Given the description of an element on the screen output the (x, y) to click on. 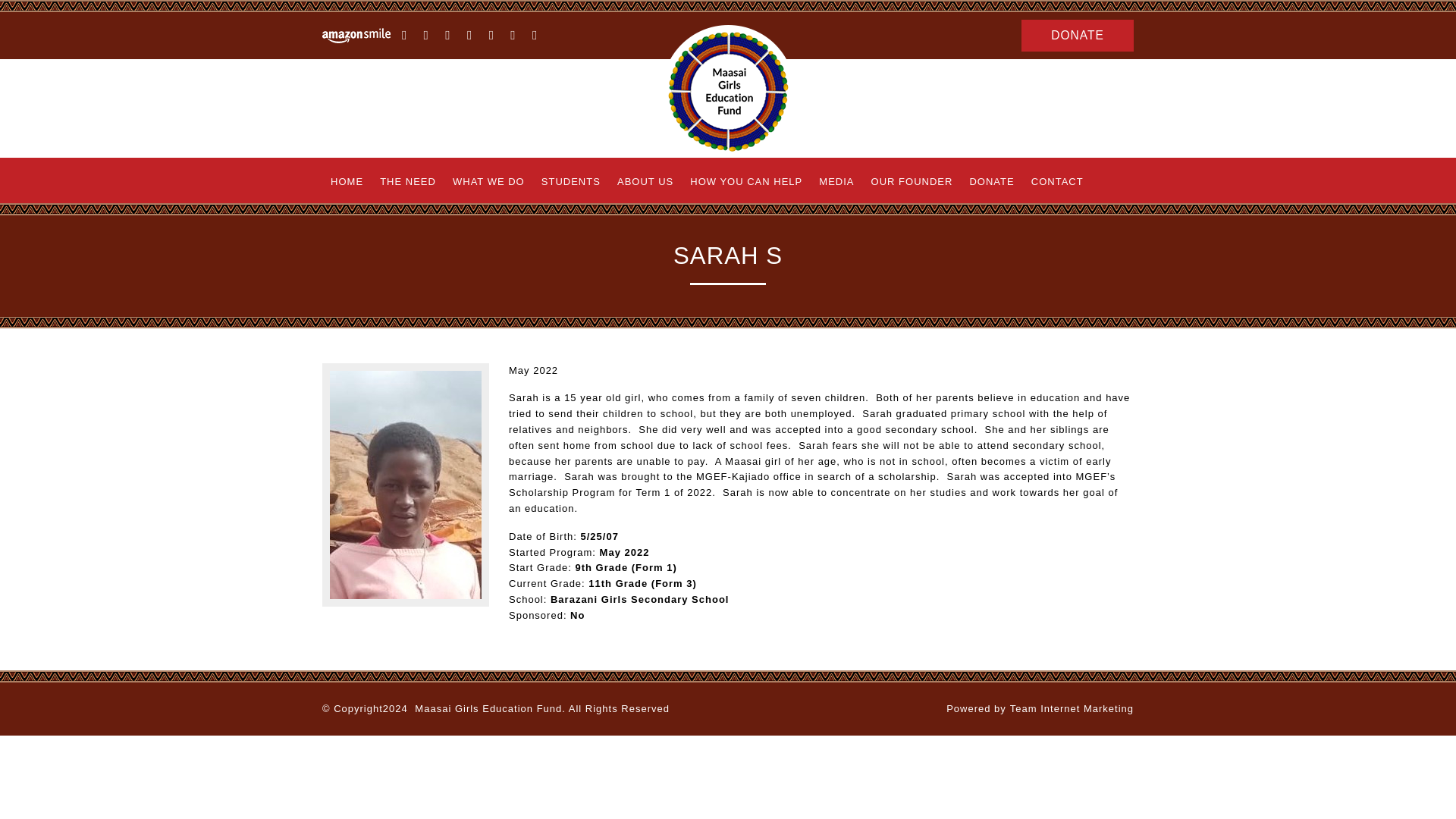
STUDENTS (570, 181)
THE NEED (407, 181)
HOW YOU CAN HELP (745, 181)
HOME (346, 181)
WHAT WE DO (488, 181)
DONATE (1078, 35)
MEDIA (835, 181)
ABOUT US (644, 181)
